Given the description of an element on the screen output the (x, y) to click on. 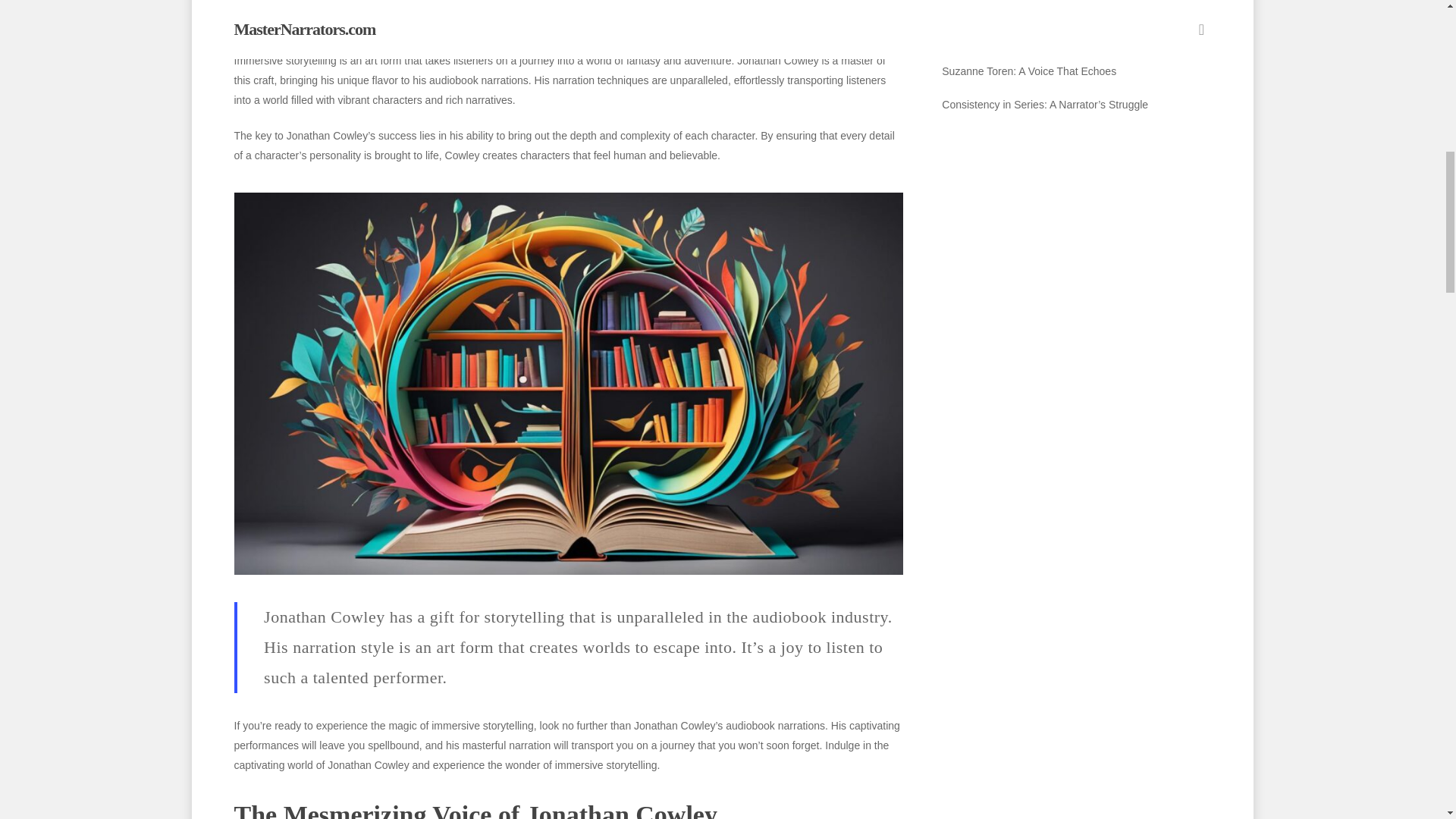
Suzanne Toren: A Voice That Echoes (1075, 71)
